Given the description of an element on the screen output the (x, y) to click on. 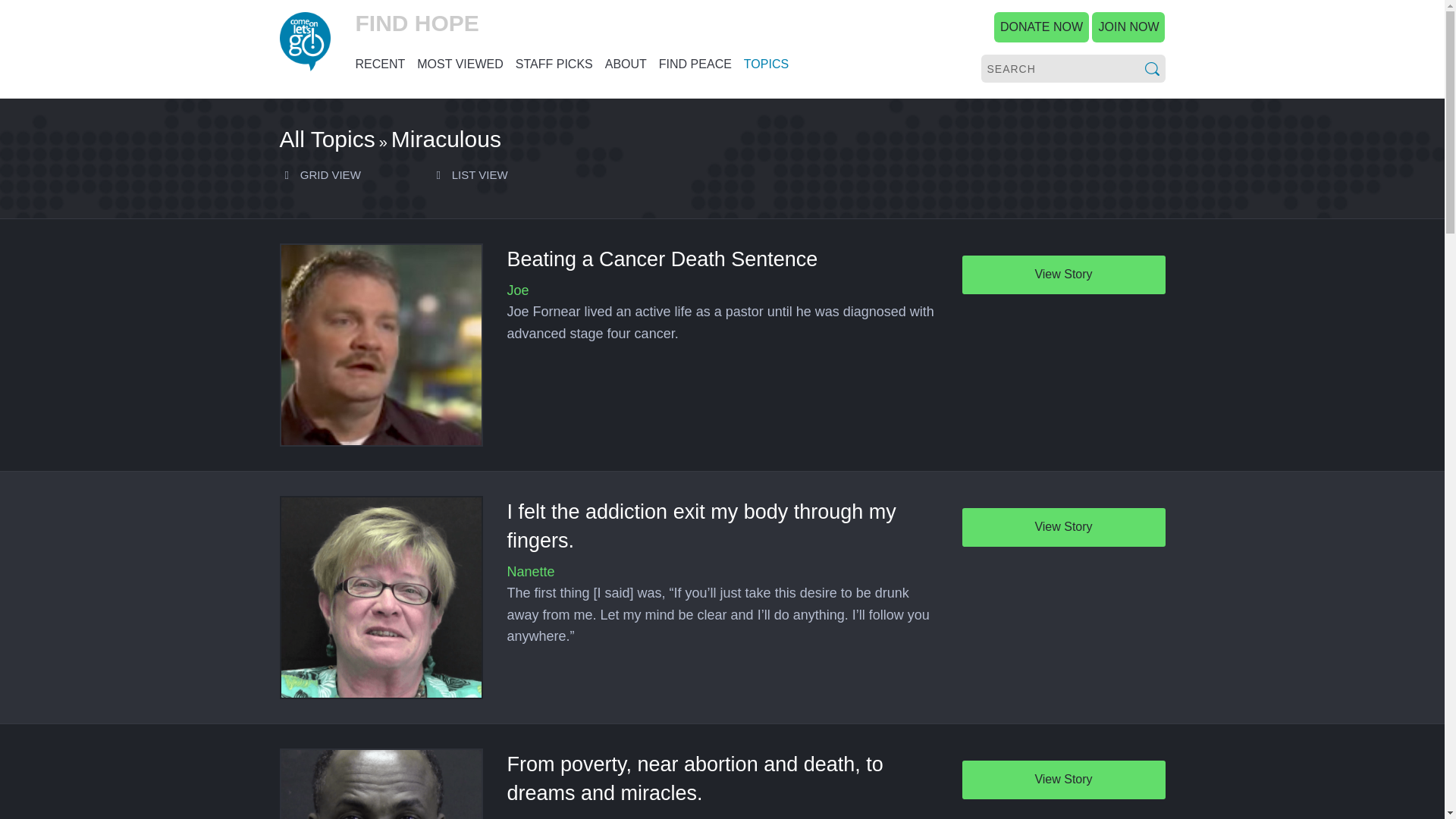
Beating a Cancer Death Sentence (380, 344)
Most Viewed (459, 64)
Miraculous (326, 138)
Miraculous (445, 138)
Beating a Cancer Death Sentence (661, 259)
View Story (1062, 527)
TOPICS (766, 64)
MOST VIEWED (459, 64)
GRID VIEW (319, 174)
DONATE NOW (1041, 27)
